Given the description of an element on the screen output the (x, y) to click on. 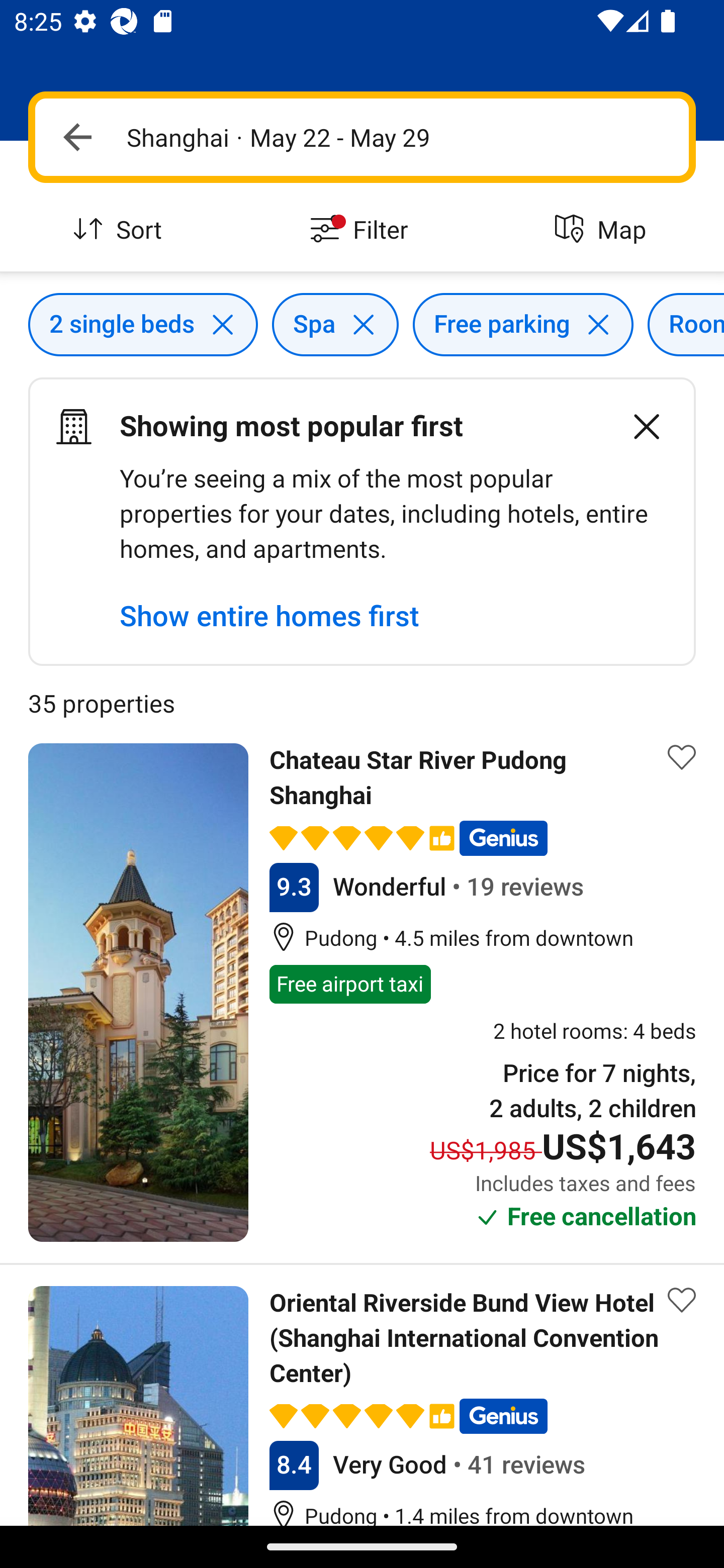
Navigate up Shanghai · May 22 - May 29 (362, 136)
Navigate up (77, 136)
Sort (120, 230)
Filter (361, 230)
Map (603, 230)
Clear (635, 426)
Show entire homes first (269, 615)
Save property to list (681, 757)
Save property to list (681, 1299)
